Given the description of an element on the screen output the (x, y) to click on. 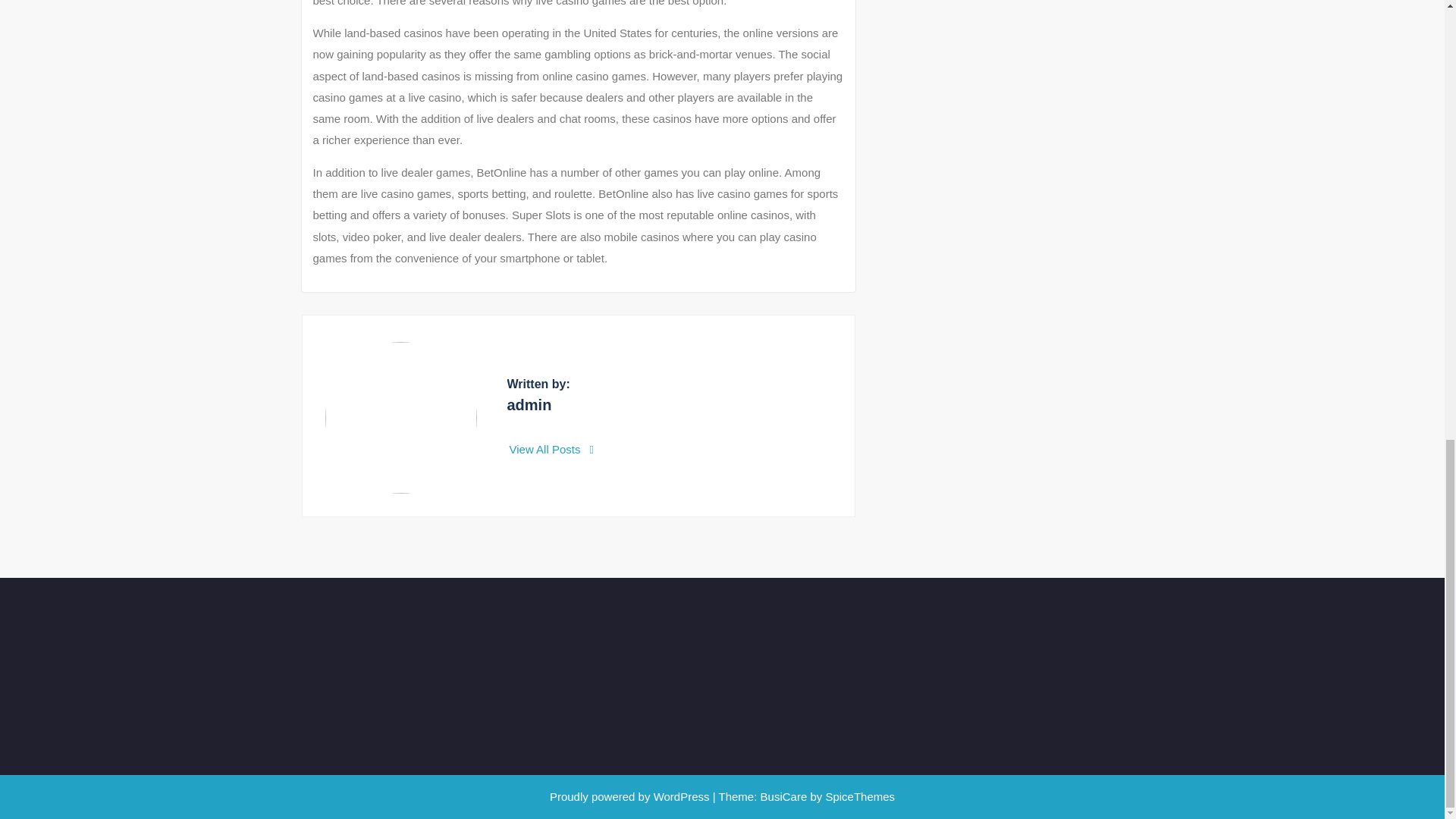
WordPress (681, 796)
View All Posts (551, 449)
BusiCare (785, 796)
SpiceThemes (858, 796)
